Given the description of an element on the screen output the (x, y) to click on. 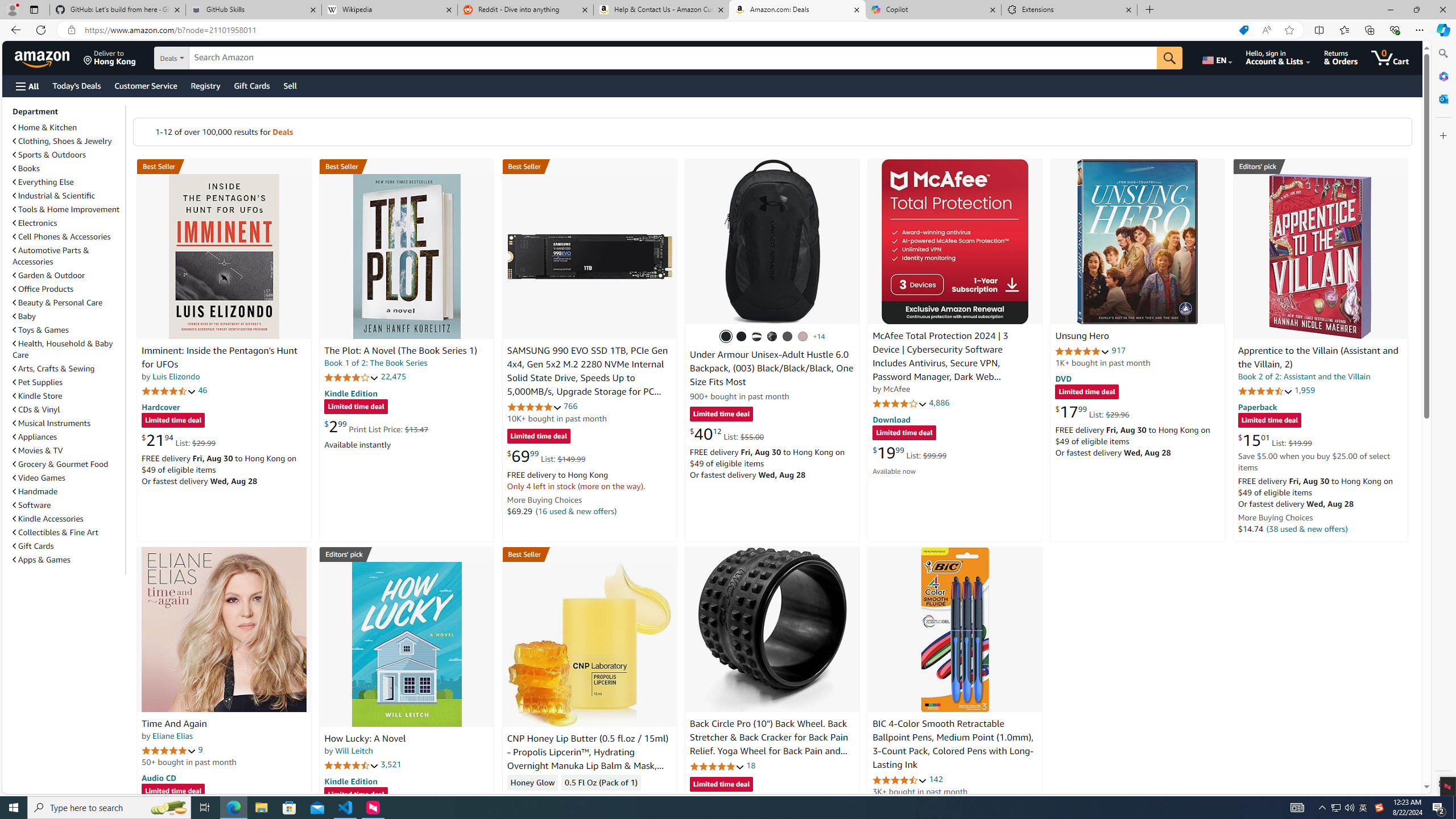
Everything Else (43, 181)
3,521 (390, 764)
Automotive Parts & Accessories (67, 255)
Extensions (1068, 9)
5.0 out of 5 stars (168, 750)
(001) Black / Black / Metallic Gold (741, 336)
Software (67, 505)
Toys & Games (40, 329)
$2.99 Print List Price: $13.47 (376, 426)
4.3 out of 5 stars (534, 799)
Help & Contact Us - Amazon Customer Service (660, 9)
Office Products (67, 288)
Deliver to Hong Kong (109, 57)
How Lucky: A Novel (365, 738)
